Given the description of an element on the screen output the (x, y) to click on. 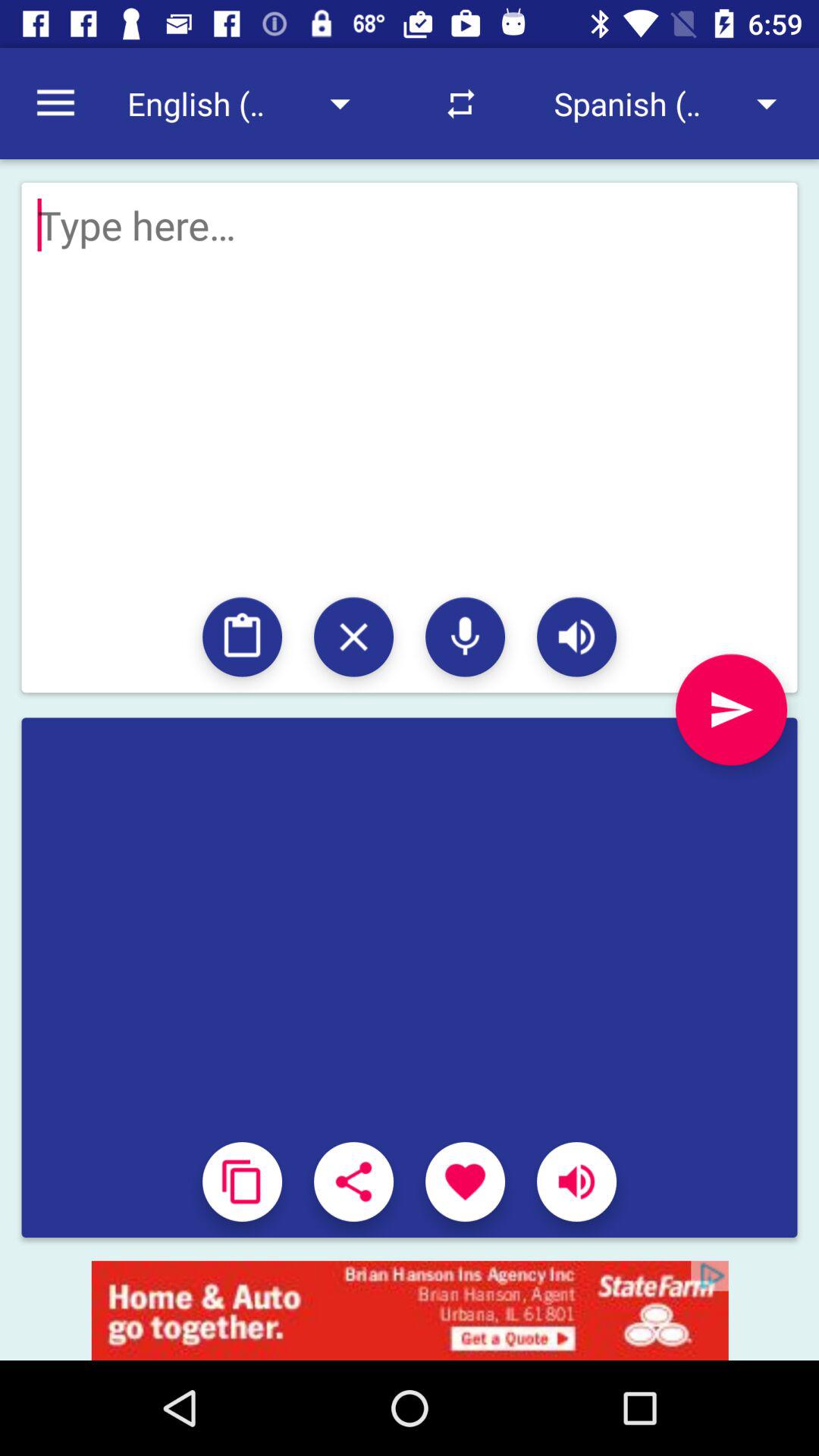
close switch (353, 636)
